Given the description of an element on the screen output the (x, y) to click on. 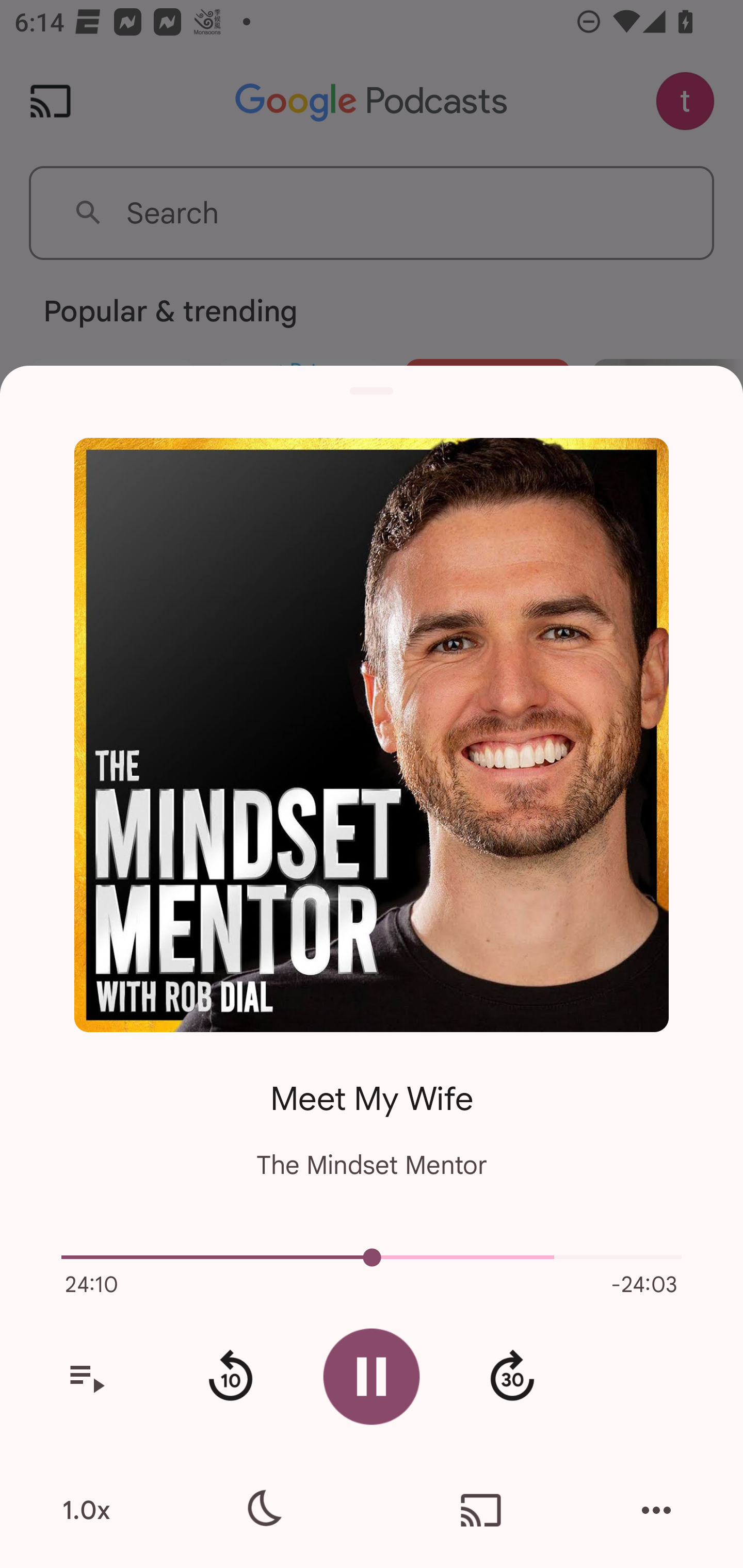
Open the show page for The Mindset Mentor (371, 734)
Meet My Wife The Mindset Mentor (371, 1115)
5010.0 Current episode playback (371, 1257)
Pause (371, 1376)
View your queue (86, 1376)
Rewind 10 seconds (230, 1376)
Fast forward 30 second (511, 1376)
1.0x Playback speed is 1.0. (86, 1510)
Sleep timer settings (261, 1510)
Cast. Disconnected (480, 1510)
More actions (655, 1510)
